Given the description of an element on the screen output the (x, y) to click on. 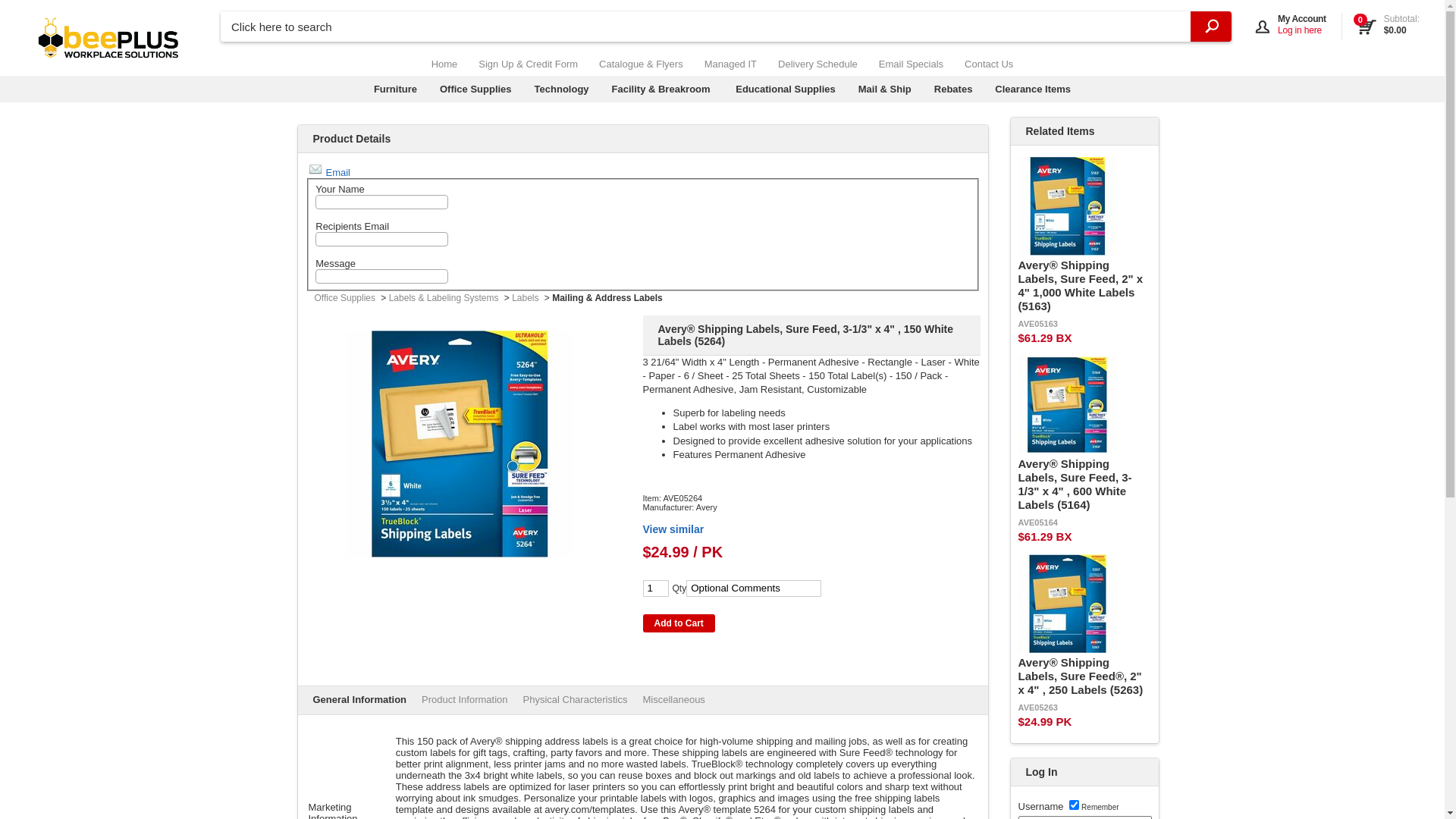
Furniture Element type: text (395, 88)
Add to Cart Element type: text (679, 623)
Email Element type: text (327, 172)
Technology Element type: text (561, 88)
Open My Account Element type: text (1243, 9)
beePLUS Workplace Solutions Element type: text (109, 37)
Clearance Items Element type: text (1032, 88)
Office Supplies Element type: text (345, 297)
Click here to search Element type: hover (725, 26)
Catalogue & Flyers Element type: text (640, 64)
Miscellaneous Element type: text (673, 699)
Home Element type: text (444, 64)
View similar Element type: text (811, 523)
Search Element type: text (1210, 26)
View Cart Element type: text (1388, 25)
Facility & Breakroom Element type: text (660, 88)
Physical Characteristics Element type: text (574, 699)
Contact Us Element type: text (988, 64)
Labels & Labeling Systems Element type: text (445, 297)
General Information Element type: text (359, 699)
Optional Comments Element type: hover (753, 588)
Sign Up & Credit Form Element type: text (527, 64)
Rebates Element type: text (953, 88)
Labels Element type: text (526, 297)
Email Specials Element type: text (910, 64)
Mail & Ship Element type: text (884, 88)
Managed IT Element type: text (730, 64)
Educational Supplies Element type: text (785, 88)
Mailing & Address Labels Element type: text (608, 297)
Delivery Schedule Element type: text (817, 64)
Product Information Element type: text (464, 699)
Office Supplies Element type: text (475, 88)
